Given the description of an element on the screen output the (x, y) to click on. 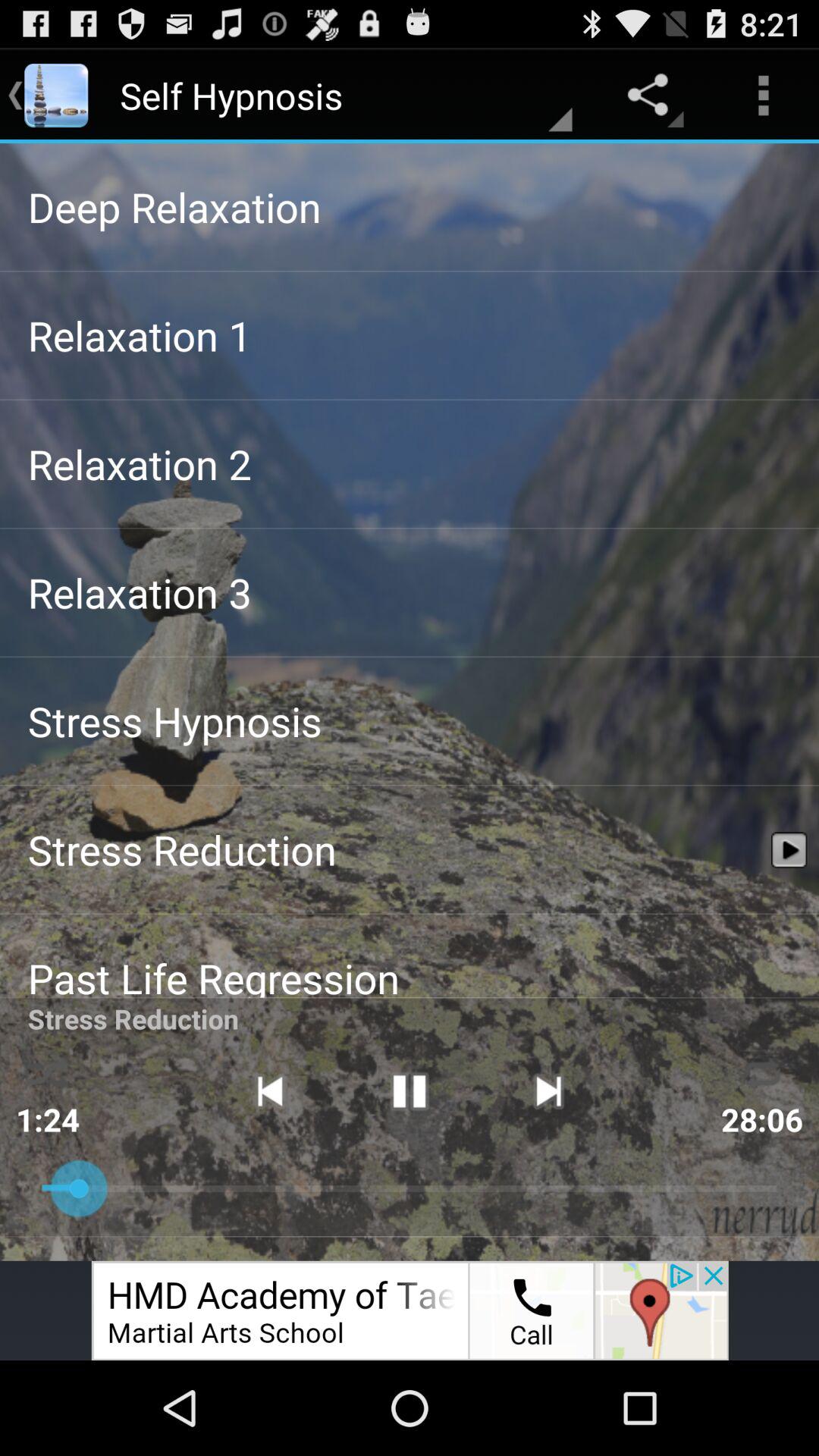
advertisement (409, 1310)
